Given the description of an element on the screen output the (x, y) to click on. 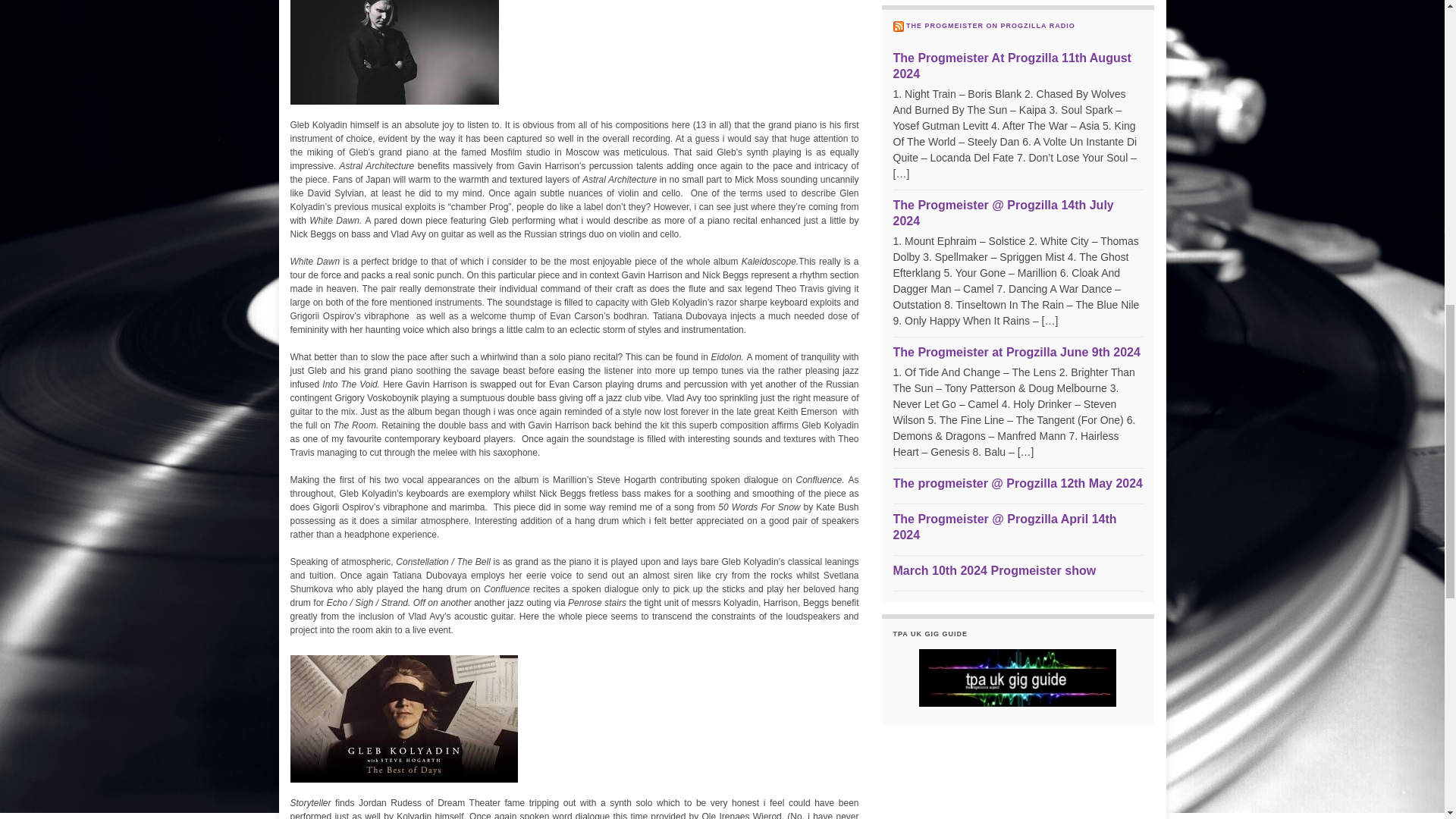
The Progmeister At Progzilla 11th August 2024 (1012, 65)
THE PROGMEISTER ON PROGZILLA RADIO (990, 25)
Click to Visit the UK Gig Guide at The Prog Aspect (1017, 676)
